Given the description of an element on the screen output the (x, y) to click on. 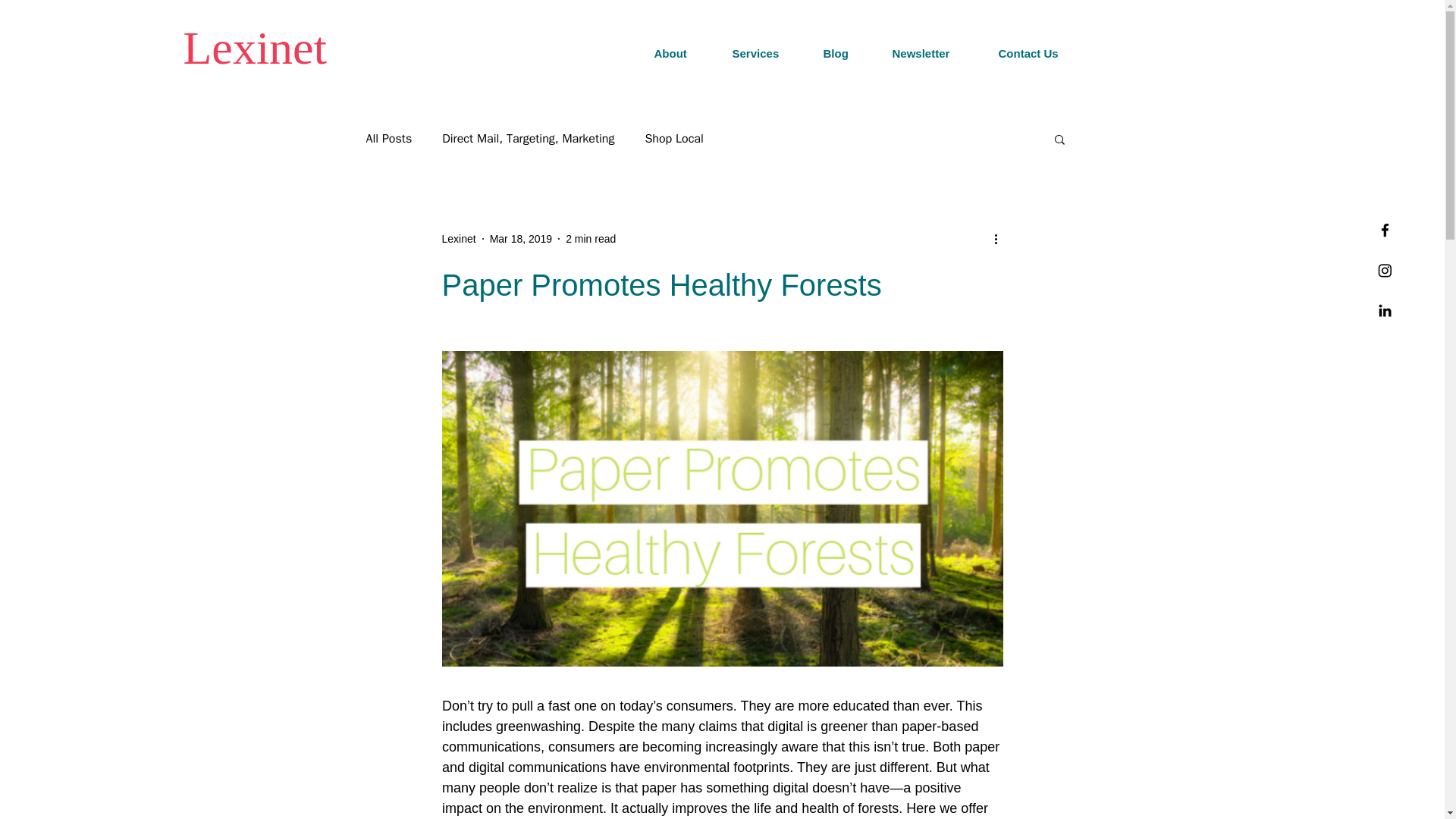
2 min read (590, 237)
Services (765, 53)
Shop Local (674, 138)
Newsletter (933, 53)
Lexinet (458, 238)
Lexinet (254, 47)
Direct Mail, Targeting, Marketing (528, 138)
All Posts (388, 138)
Lexinet (458, 238)
Mar 18, 2019 (521, 237)
